Given the description of an element on the screen output the (x, y) to click on. 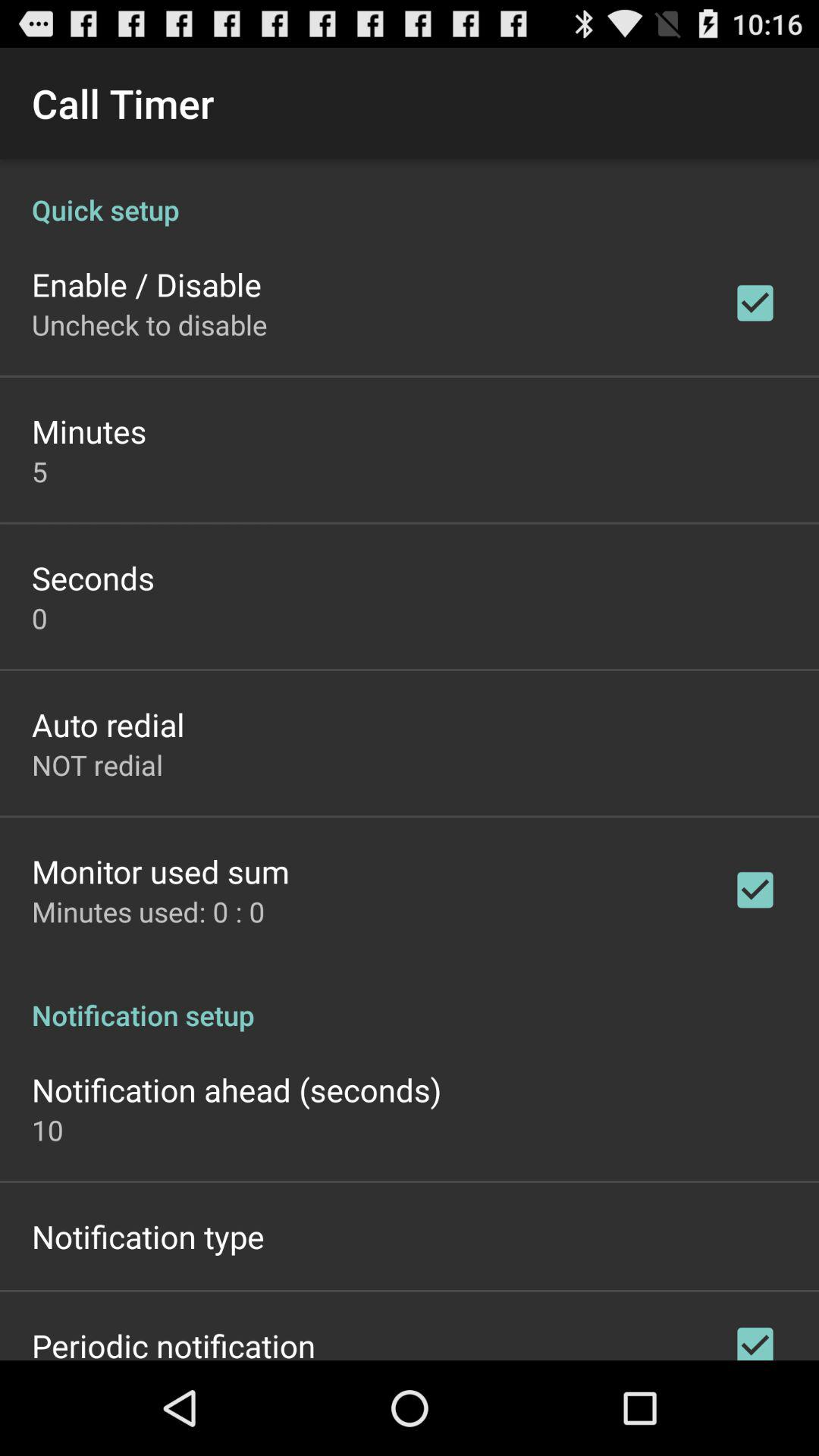
open the notification setup at the bottom (409, 998)
